Given the description of an element on the screen output the (x, y) to click on. 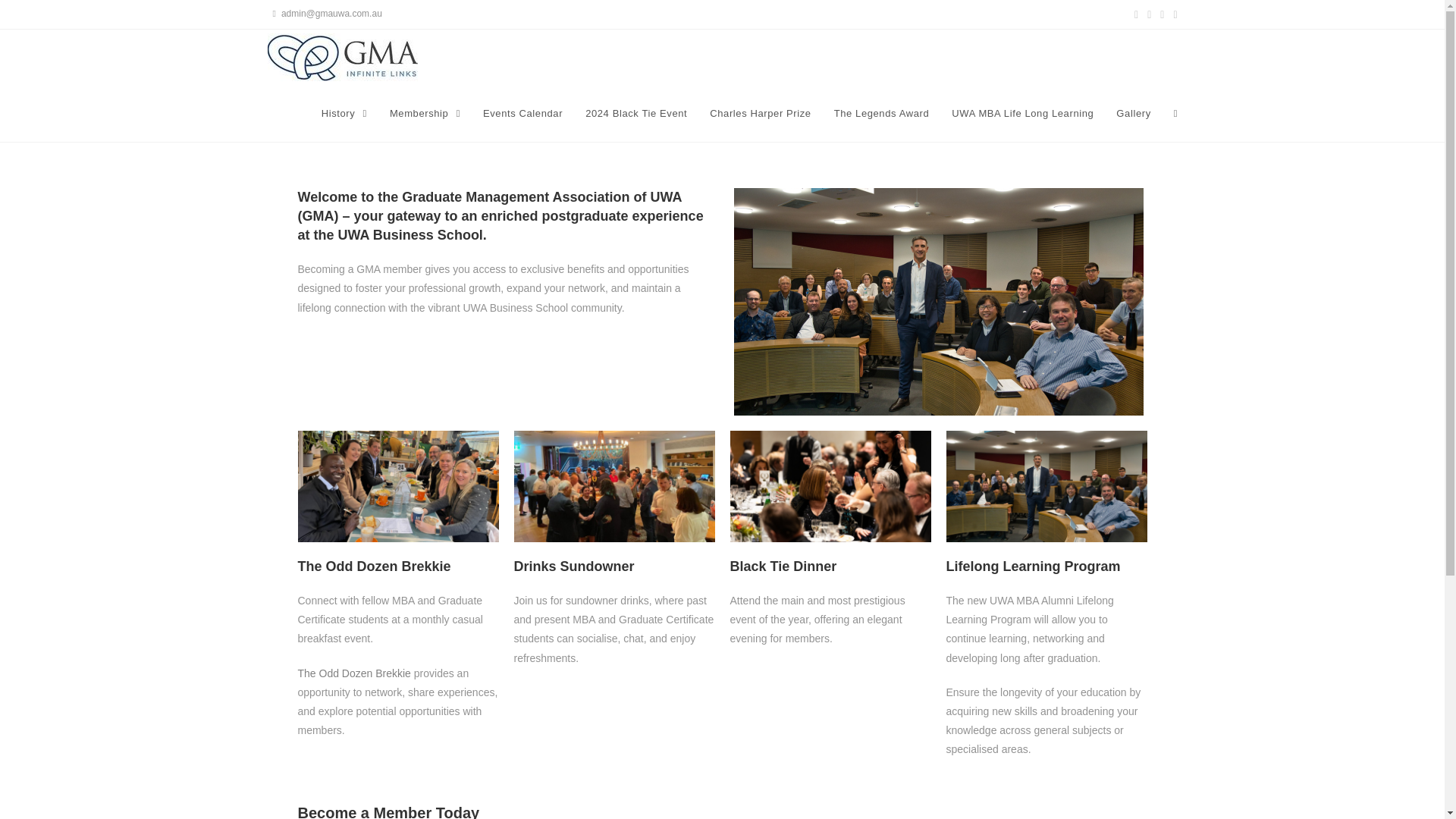
UWA MBA Life Long Learning (1022, 113)
History (344, 113)
Membership (424, 113)
2024 Black Tie Event (635, 113)
Charles Harper Prize (760, 113)
Gallery (1133, 113)
Events Calendar (522, 113)
The Legends Award (881, 113)
